Given the description of an element on the screen output the (x, y) to click on. 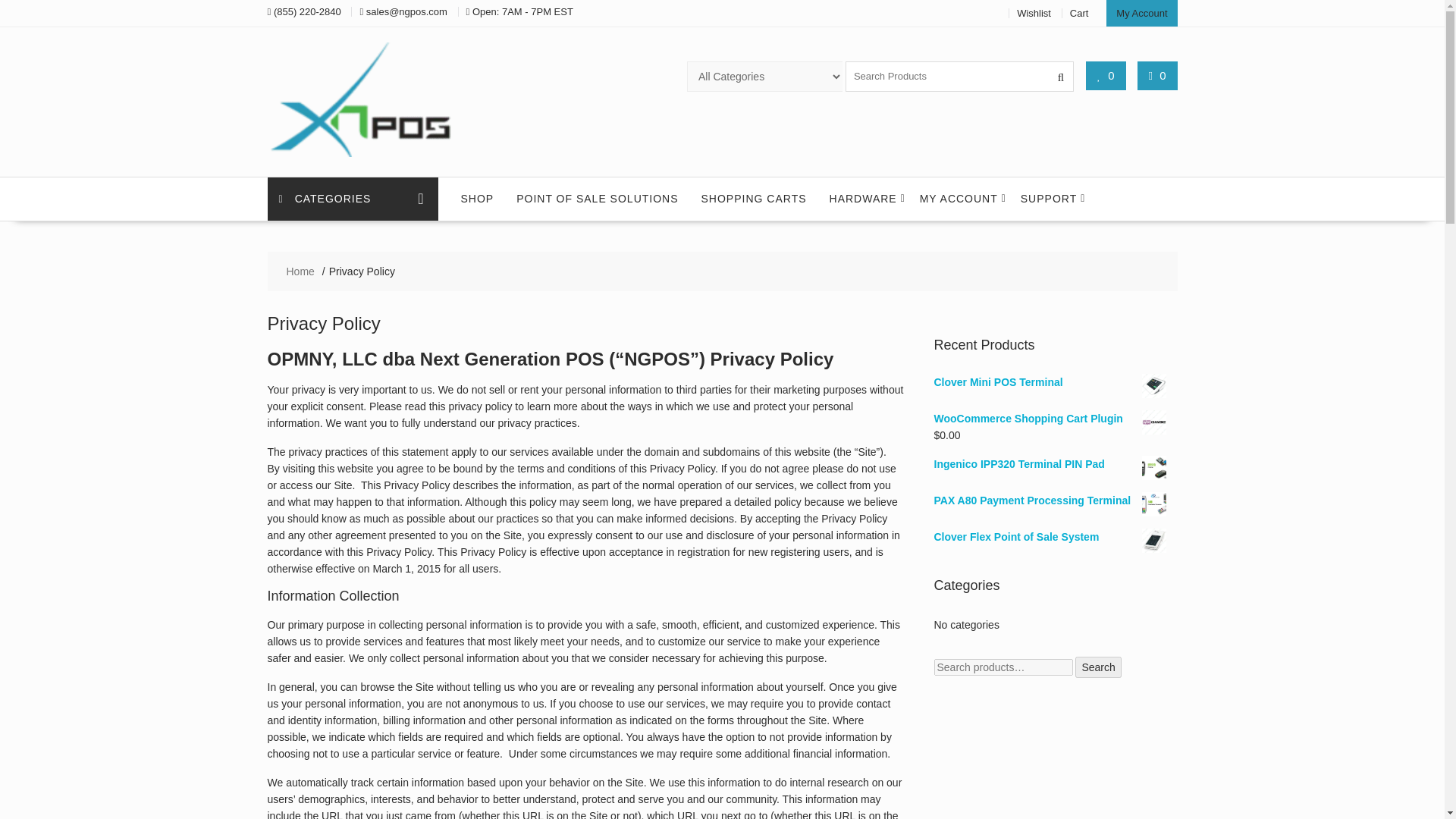
Open: 7AM - 7PM EST (522, 11)
Wishlist (1033, 12)
SHOP (476, 198)
0 (1106, 74)
0 (1157, 74)
POINT OF SALE SOLUTIONS (596, 198)
CATEGORIES (352, 198)
HARDWARE (863, 198)
Cart (1079, 12)
SHOPPING CARTS (754, 198)
